Given the description of an element on the screen output the (x, y) to click on. 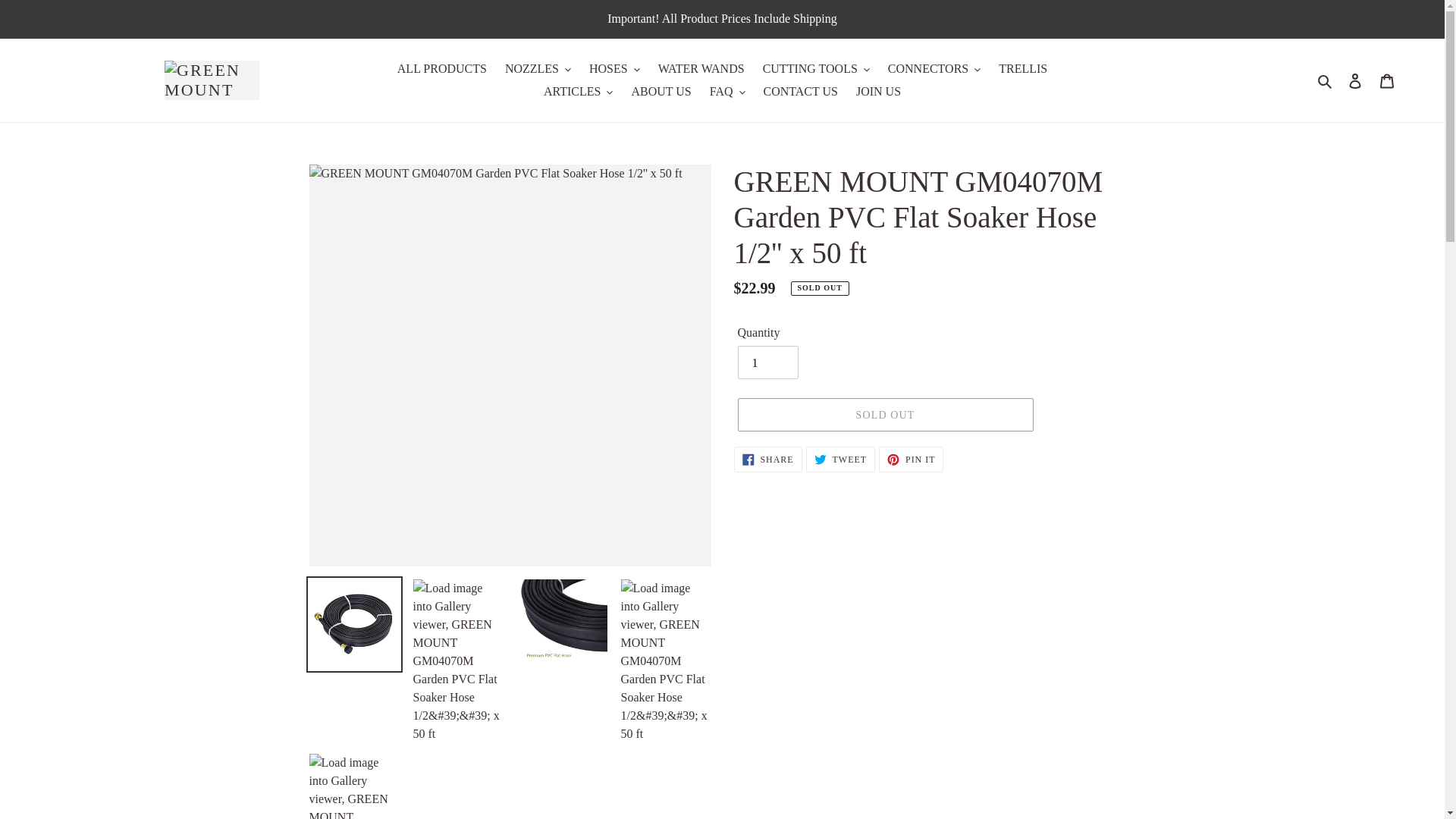
FAQ (726, 91)
ARTICLES (577, 91)
CONNECTORS (934, 68)
JOIN US (878, 91)
WATER WANDS (701, 68)
ALL PRODUCTS (442, 68)
CONTACT US (800, 91)
NOZZLES (537, 68)
ABOUT US (660, 91)
Search (1326, 80)
TRELLIS (1022, 68)
CUTTING TOOLS (816, 68)
1 (766, 362)
HOSES (613, 68)
